Given the description of an element on the screen output the (x, y) to click on. 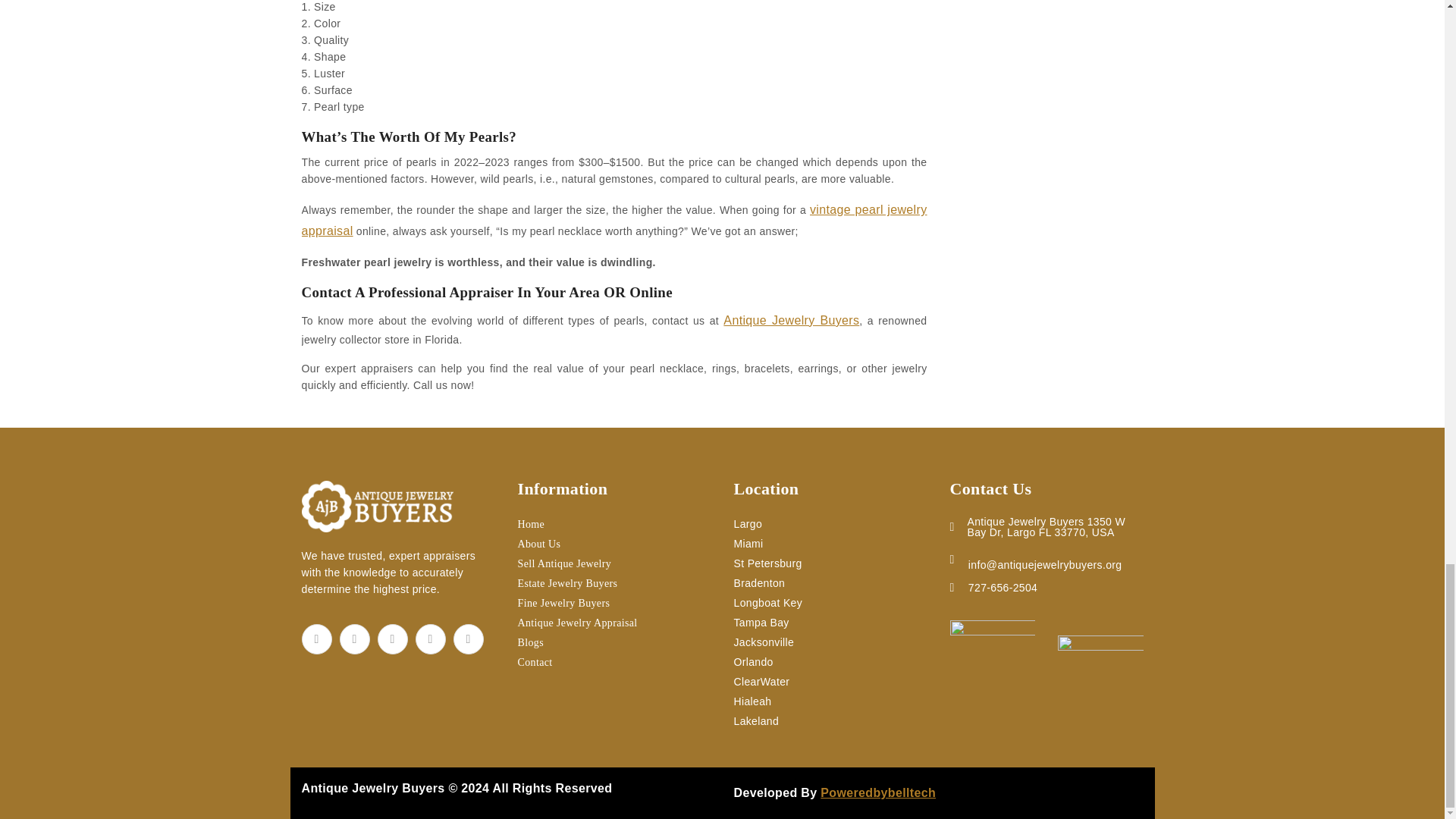
Twitter (354, 639)
Antique Jewelry Buyers (376, 504)
Instagram (392, 639)
Facebook (316, 639)
